Given the description of an element on the screen output the (x, y) to click on. 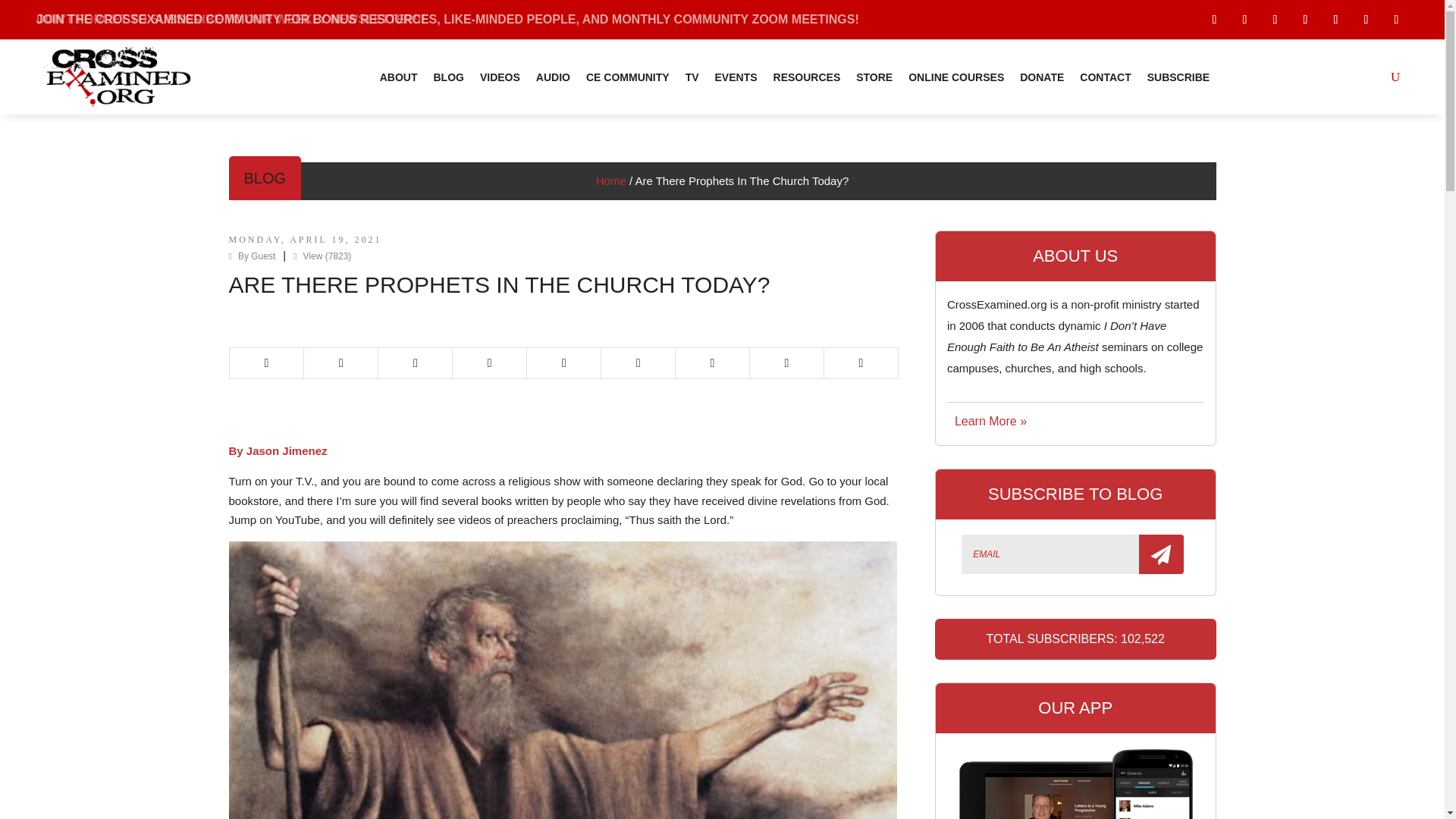
Follow on TikTok (1274, 19)
Follow on RSS (1365, 19)
Follow on Instagram (1395, 19)
CE COMMUNITY (627, 76)
Permanent Link: Blog (265, 177)
Follow on Facebook (1213, 19)
Follow on Youtube (1304, 19)
Follow on X (1243, 19)
Follow on google-plus (1335, 19)
